Given the description of an element on the screen output the (x, y) to click on. 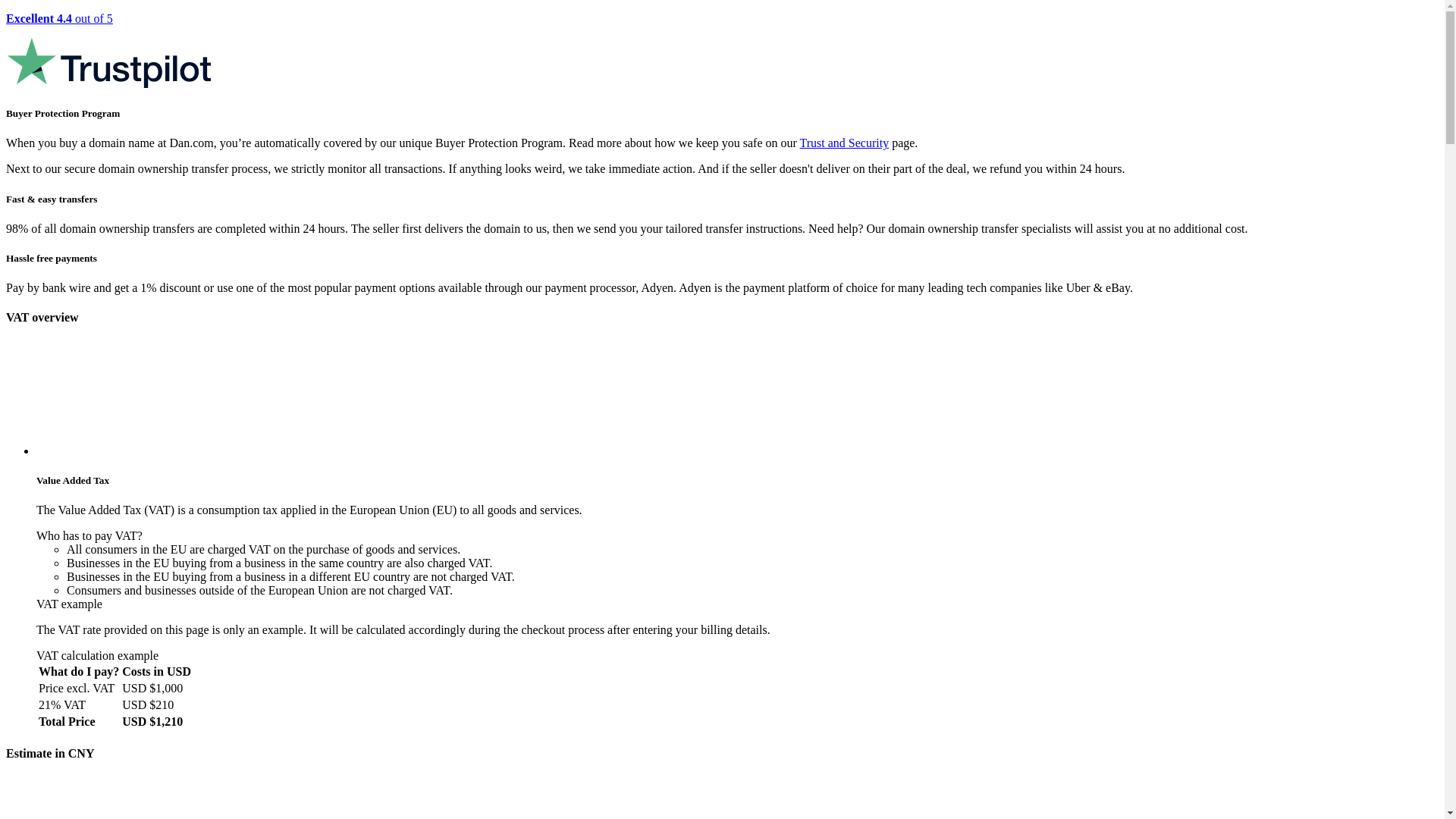
Trust and Security Element type: text (844, 142)
Excellent 4.4 out of 5 Element type: text (722, 51)
